Given the description of an element on the screen output the (x, y) to click on. 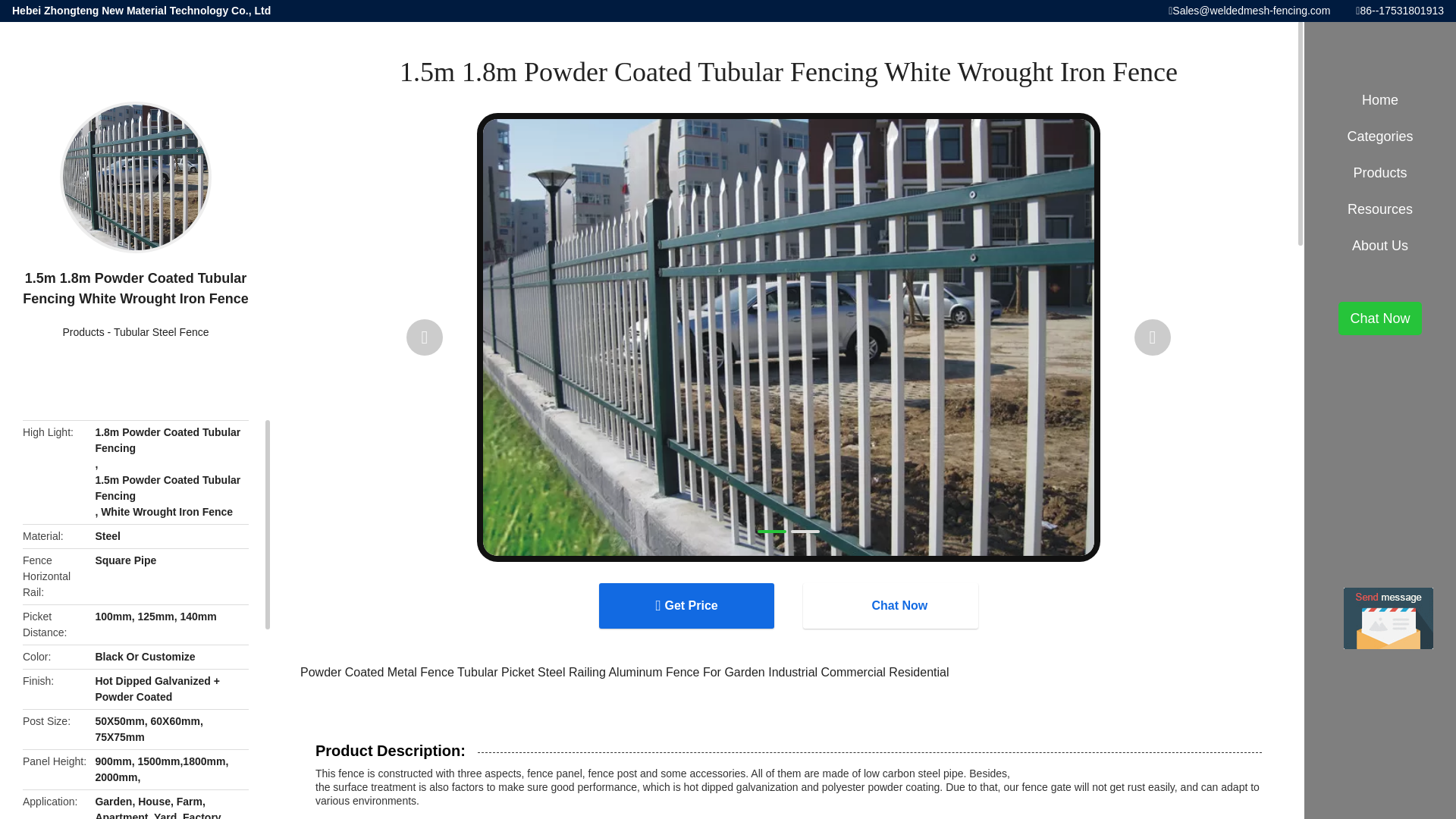
Tubular Steel Fence (161, 331)
China Tubular Steel Fence Manufacturers (161, 331)
Products (82, 331)
Get Price (685, 605)
Home (1379, 99)
Categories (1379, 135)
Products (82, 331)
Chat Now (889, 605)
